Given the description of an element on the screen output the (x, y) to click on. 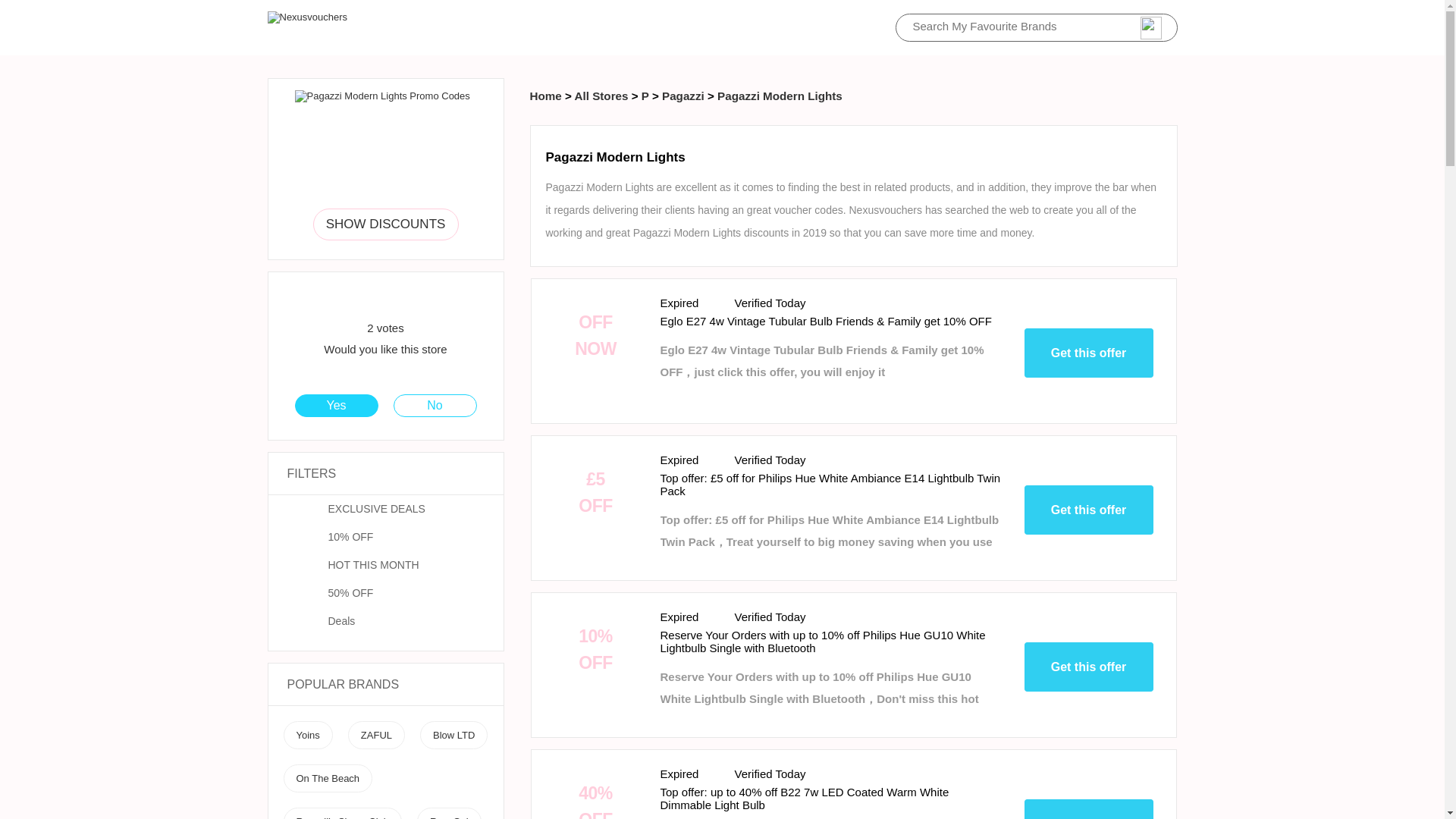
Yoins (306, 735)
SHOW DISCOUNTS (385, 223)
ZAFUL (376, 735)
1 star out of 5 (346, 298)
3 star out of 5 (365, 298)
Yes (336, 405)
Blow LTD (453, 735)
5 star out of 5 (384, 298)
On The Beach (327, 778)
4 star out of 5 (375, 298)
RoseGal (448, 817)
2 star out of 5 (356, 298)
No (435, 405)
